Given the description of an element on the screen output the (x, y) to click on. 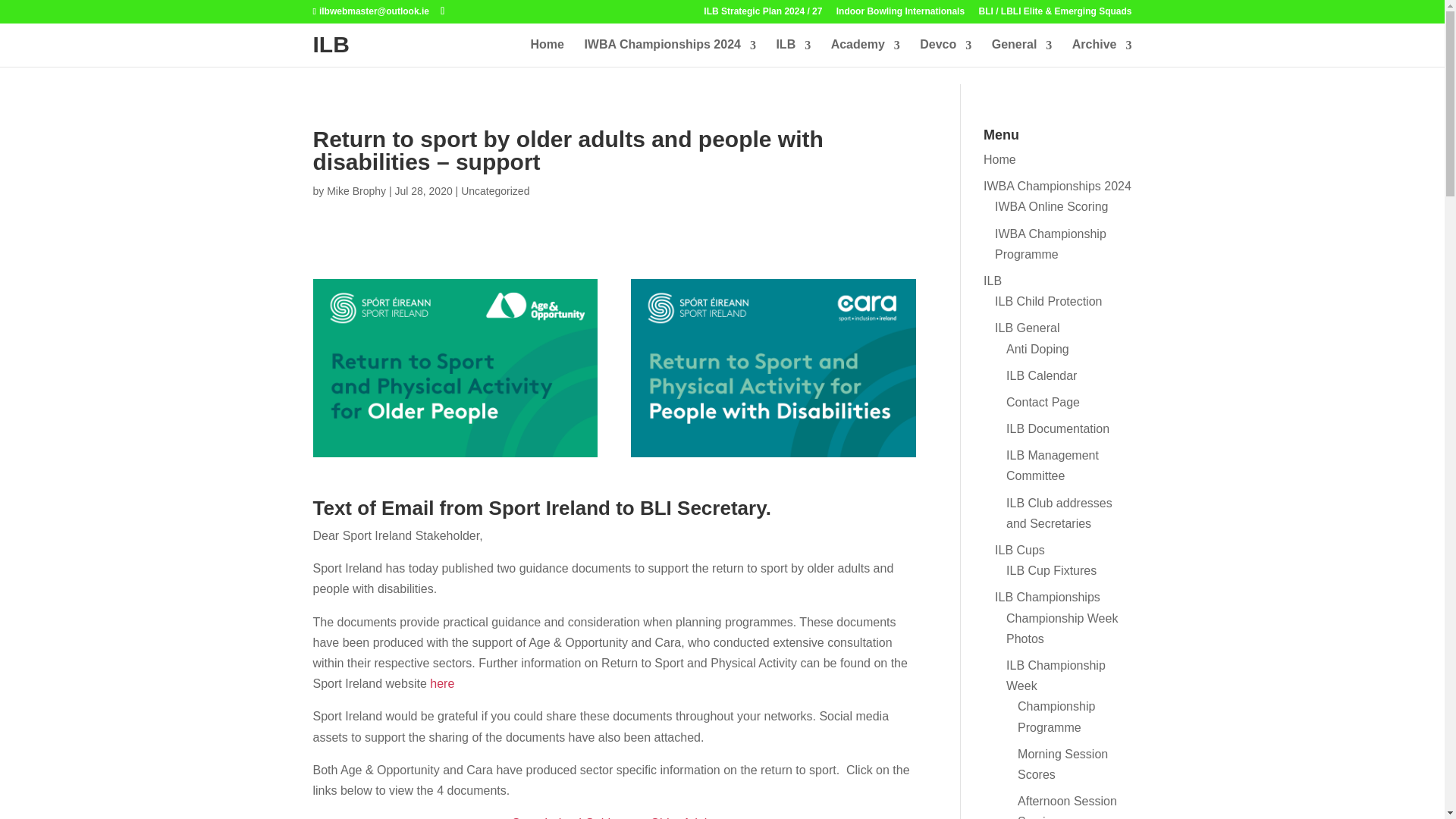
IWBA Championships 2024 (669, 46)
Posts by Mike Brophy (355, 191)
Indoor Bowling Internationals (899, 14)
ILB (793, 46)
ILB (331, 43)
